Given the description of an element on the screen output the (x, y) to click on. 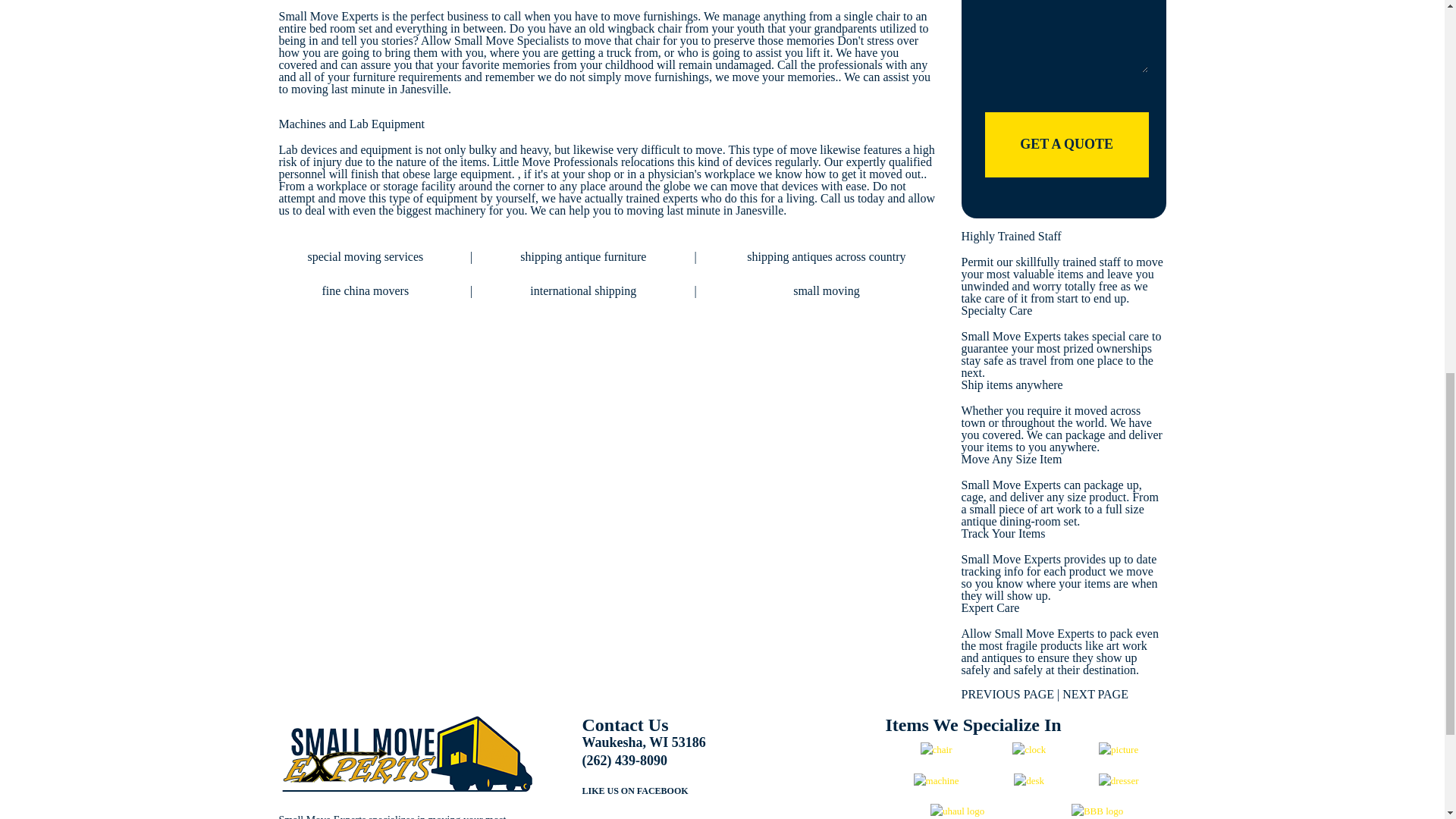
fine china movers (365, 290)
international shipping (582, 290)
Highly Trained Staff (1010, 236)
shipping antique furniture (582, 256)
small moving (826, 290)
Get A Quote (1066, 144)
shipping antiques across country (825, 256)
Specialty Care (996, 309)
special moving services (365, 256)
Get A Quote (1066, 144)
